Given the description of an element on the screen output the (x, y) to click on. 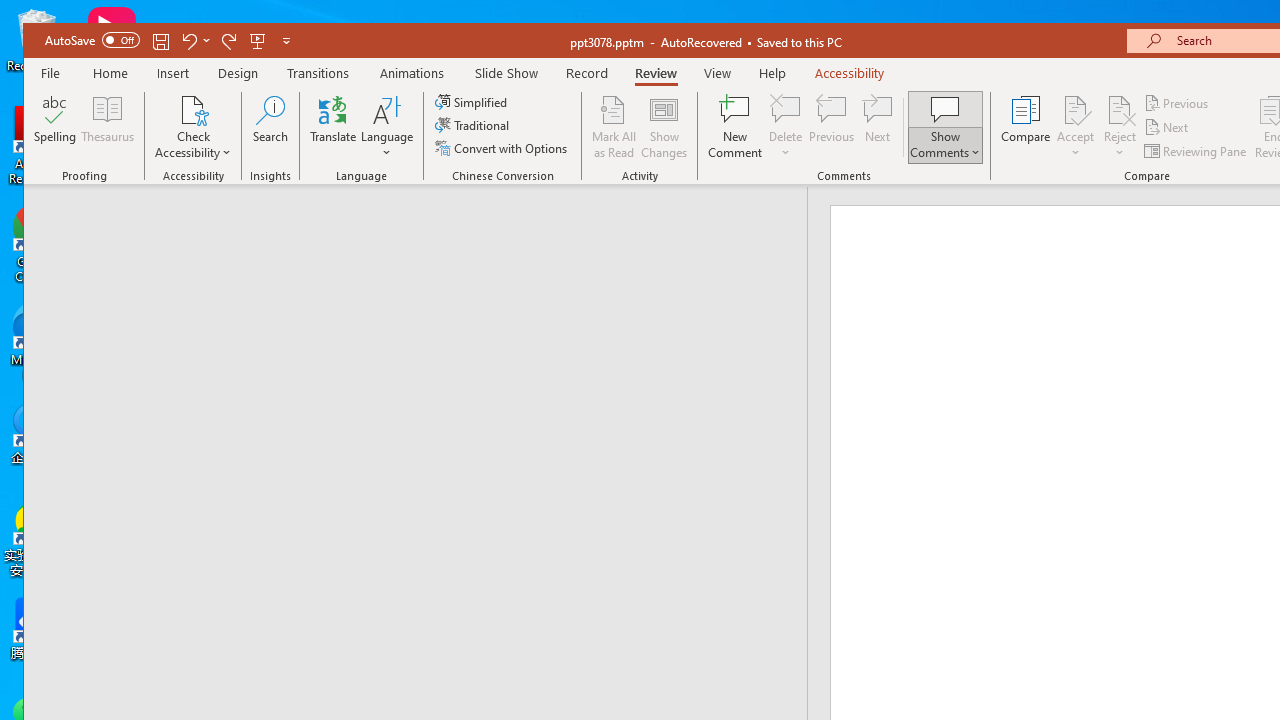
Traditional (473, 124)
Delete (785, 109)
Next (1167, 126)
Reject Change (1119, 109)
Previous (1177, 103)
Convert with Options... (502, 147)
